Given the description of an element on the screen output the (x, y) to click on. 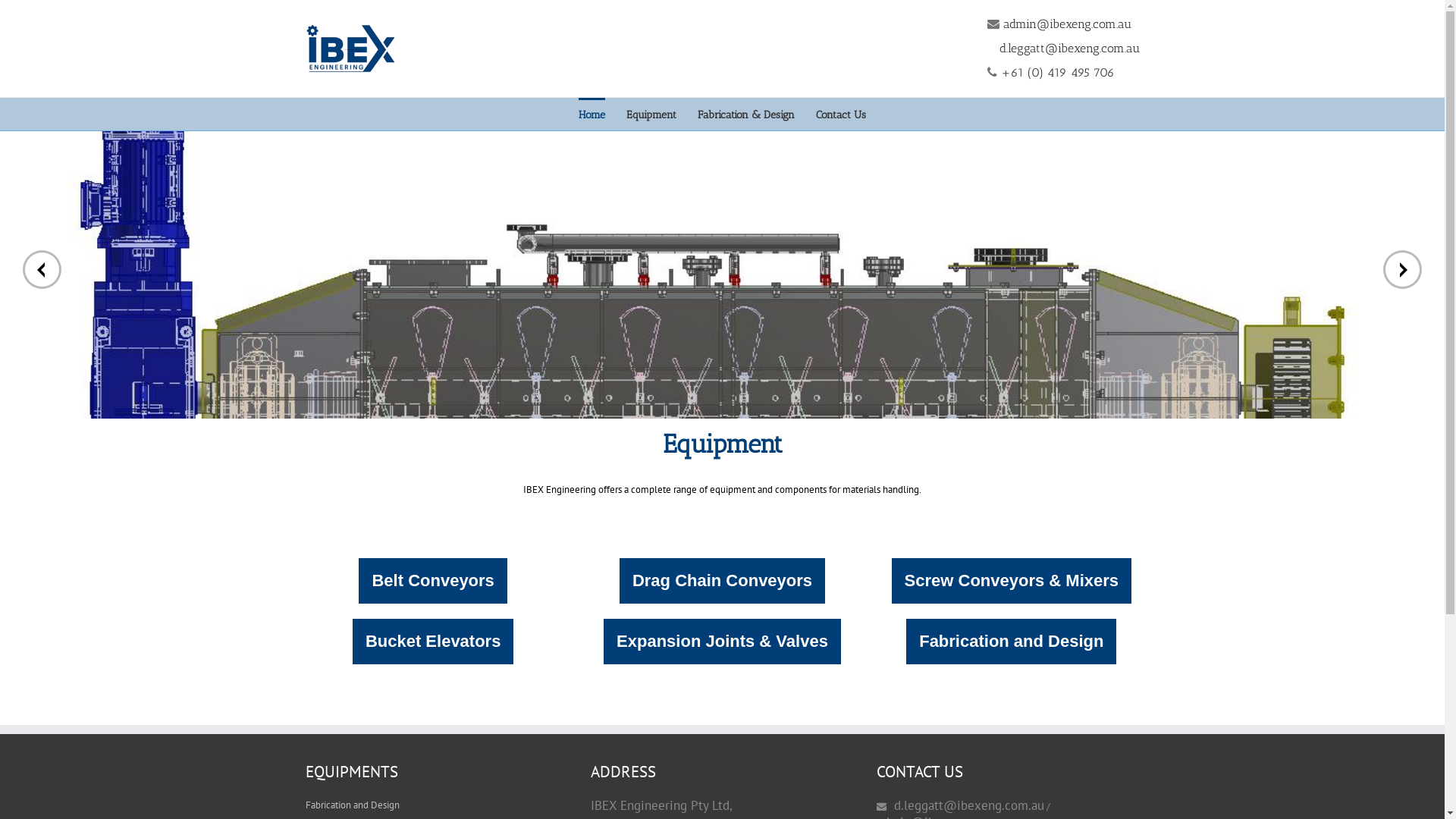
Screw Conveyors & Mixers Element type: text (1011, 580)
Fabrication and Design Element type: text (1011, 640)
Home Element type: text (591, 113)
Belt Conveyors Element type: text (432, 580)
Expansion Joints & Valves Element type: text (722, 640)
admin@ibexeng.com.au Element type: text (1066, 23)
d.leggatt@ibexeng.com.au Element type: text (1069, 47)
Equipment Element type: text (651, 113)
Drag Chain Conveyors Element type: text (722, 580)
Fabrication and Design Element type: text (1011, 641)
Contact Us Element type: text (840, 113)
Expansion Joints & Valves Element type: text (721, 641)
d.leggatt@ibexeng.com.au Element type: text (967, 805)
Belt Conveyors Element type: text (432, 580)
Drag Chain Conveyors Element type: text (722, 580)
Bucket Elevators Element type: text (433, 640)
Bucket Elevators Element type: text (433, 641)
Fabrication & Design Element type: text (745, 113)
Screw Conveyors & Mixers Element type: text (1011, 580)
+61 (0) 419 495 706 Element type: text (1057, 72)
